Given the description of an element on the screen output the (x, y) to click on. 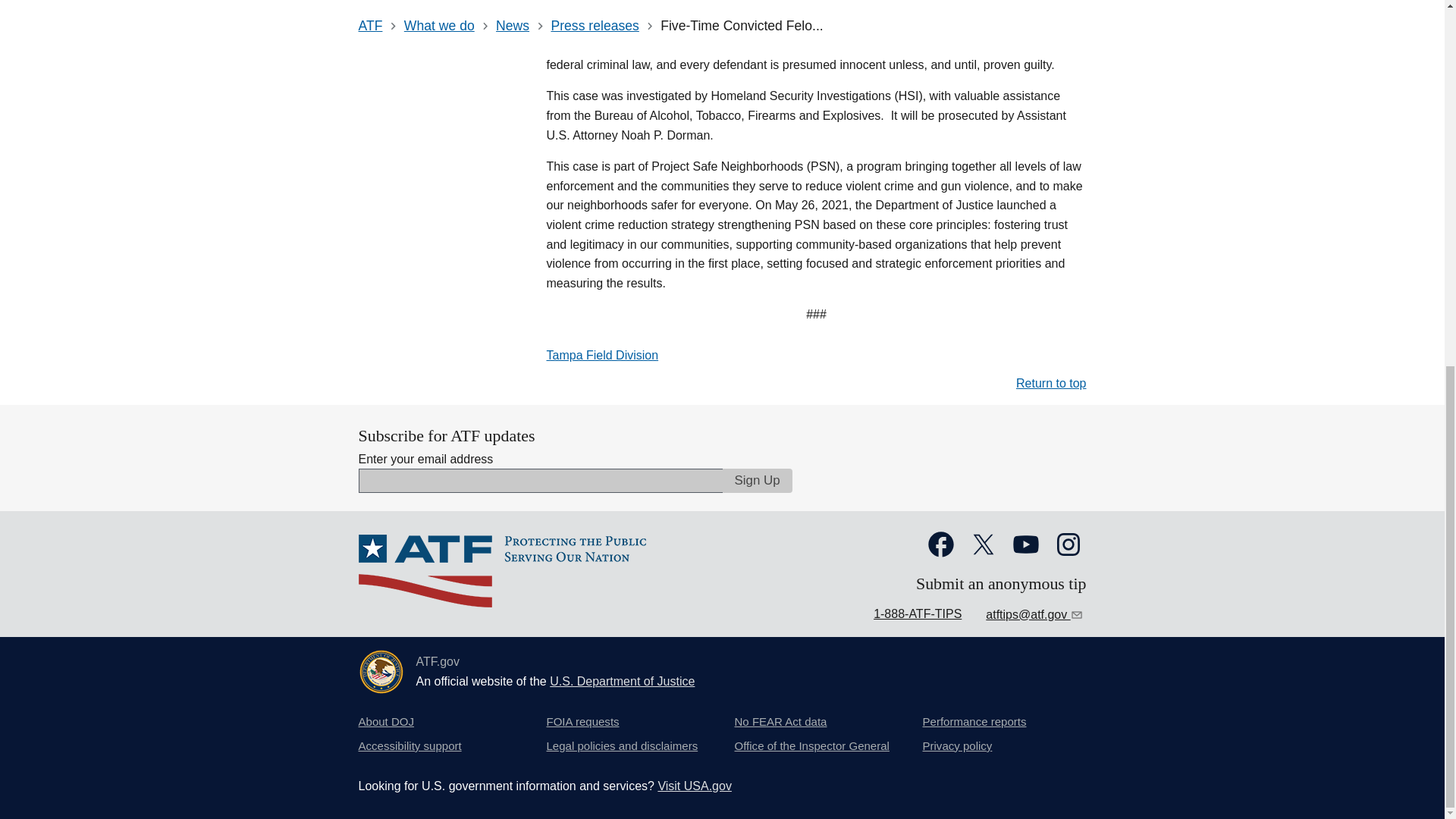
Office of the Inspector General (810, 746)
Tampa Field Division (602, 354)
Return to top (1051, 382)
FOIA requests (582, 721)
Performance reports (973, 721)
About DOJ (385, 721)
1-888-ATF-TIPS (916, 613)
U.S. Department of Justice (622, 680)
Privacy policy (956, 746)
Legal policies and disclaimers (621, 746)
Accessibility support (409, 746)
No FEAR Act data (780, 721)
Visit USA.gov (695, 786)
Sign Up (757, 480)
